Given the description of an element on the screen output the (x, y) to click on. 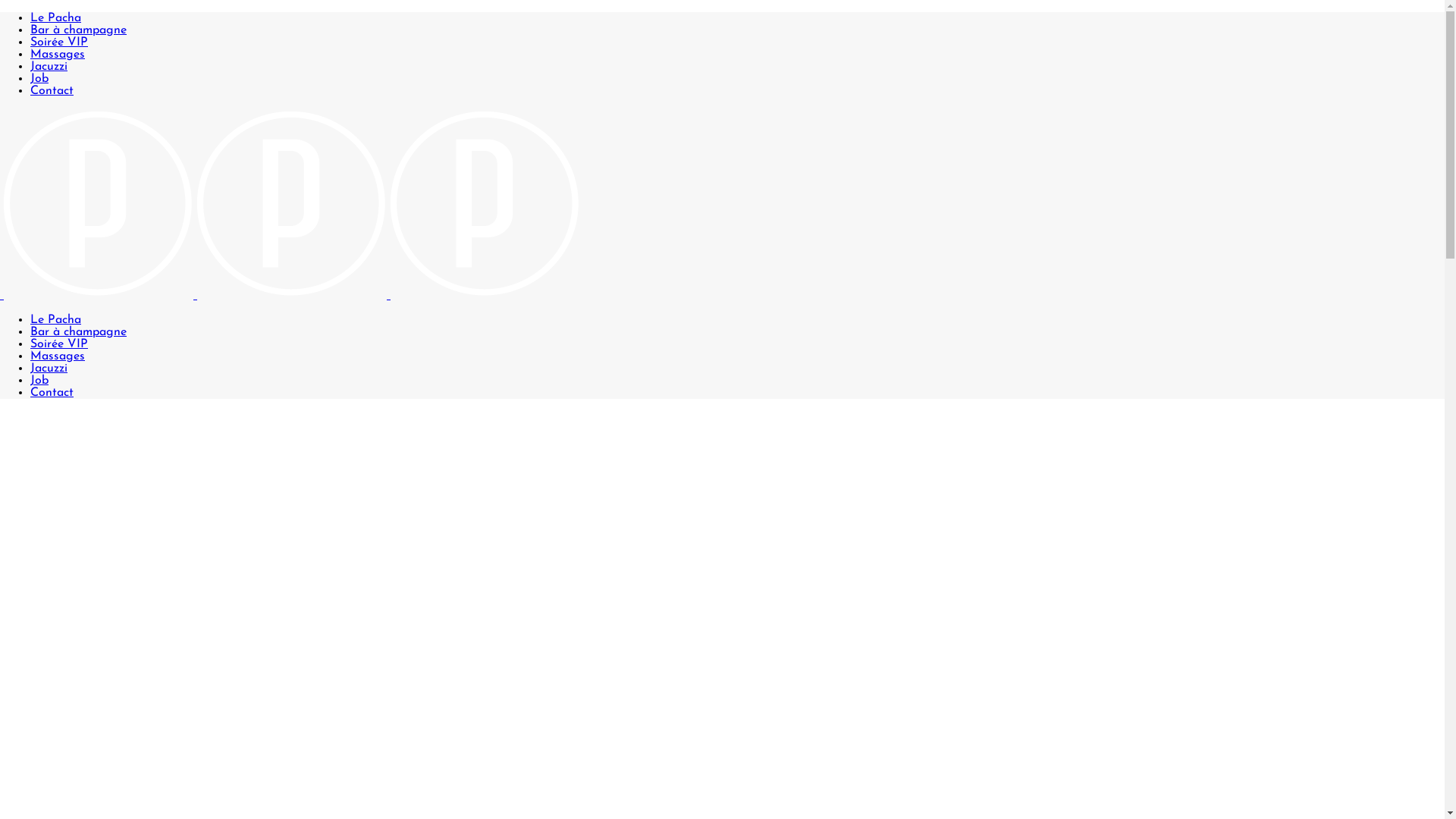
Le Pacha Element type: text (55, 18)
Massages Element type: text (57, 356)
Contact Element type: text (51, 392)
Jacuzzi Element type: text (48, 368)
Job Element type: text (39, 380)
Massages Element type: text (57, 54)
Le Pacha Element type: text (55, 319)
Job Element type: text (39, 78)
Contact Element type: text (51, 90)
Jacuzzi Element type: text (48, 66)
